Given the description of an element on the screen output the (x, y) to click on. 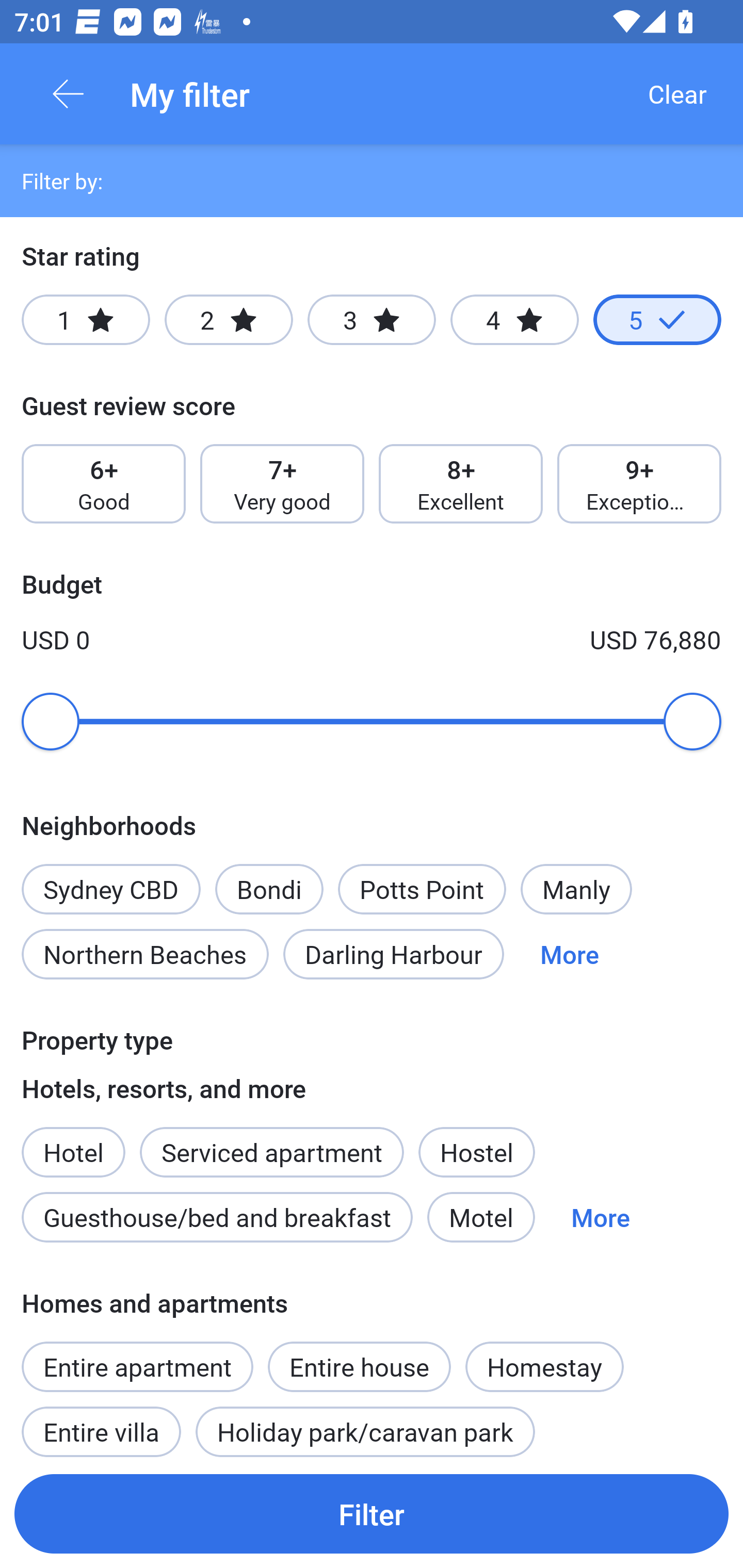
Clear (676, 93)
1 (85, 319)
2 (228, 319)
3 (371, 319)
4 (514, 319)
6+ Good (103, 483)
7+ Very good (281, 483)
8+ Excellent (460, 483)
9+ Exceptional (639, 483)
Sydney CBD (110, 878)
Bondi (269, 888)
Potts Point (421, 888)
Manly (576, 888)
Northern Beaches (144, 954)
Darling Harbour (393, 954)
More (569, 954)
Hotel (73, 1141)
Serviced apartment (271, 1141)
Hostel (476, 1151)
Guesthouse/bed and breakfast (217, 1217)
Motel (480, 1217)
More (600, 1217)
Entire apartment (137, 1366)
Entire house (359, 1356)
Homestay (544, 1366)
Entire villa (101, 1424)
Holiday park/caravan park (364, 1424)
Filter (371, 1513)
